Given the description of an element on the screen output the (x, y) to click on. 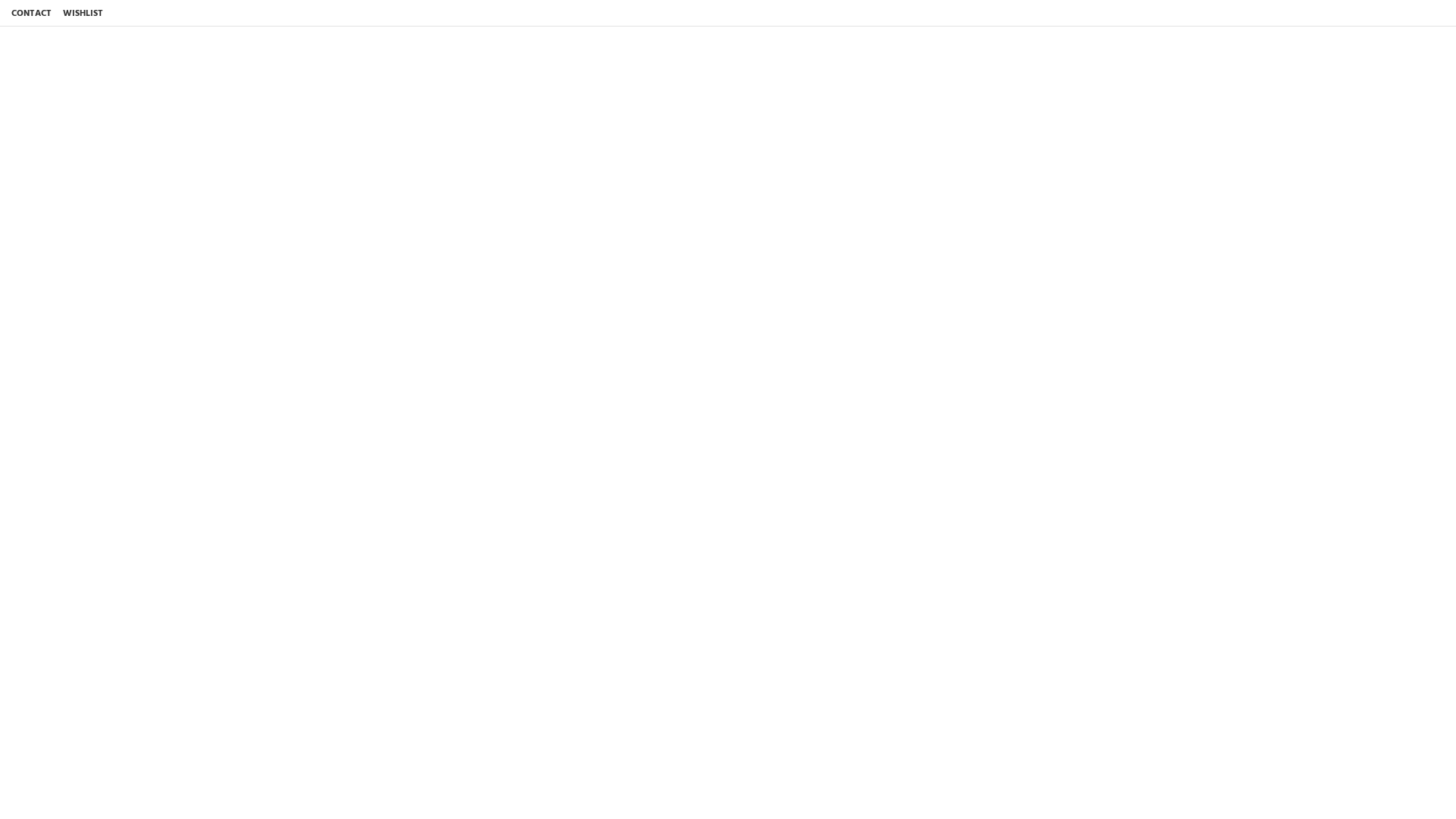
CONTACT Element type: text (31, 13)
WISHLIST Element type: text (82, 13)
